Given the description of an element on the screen output the (x, y) to click on. 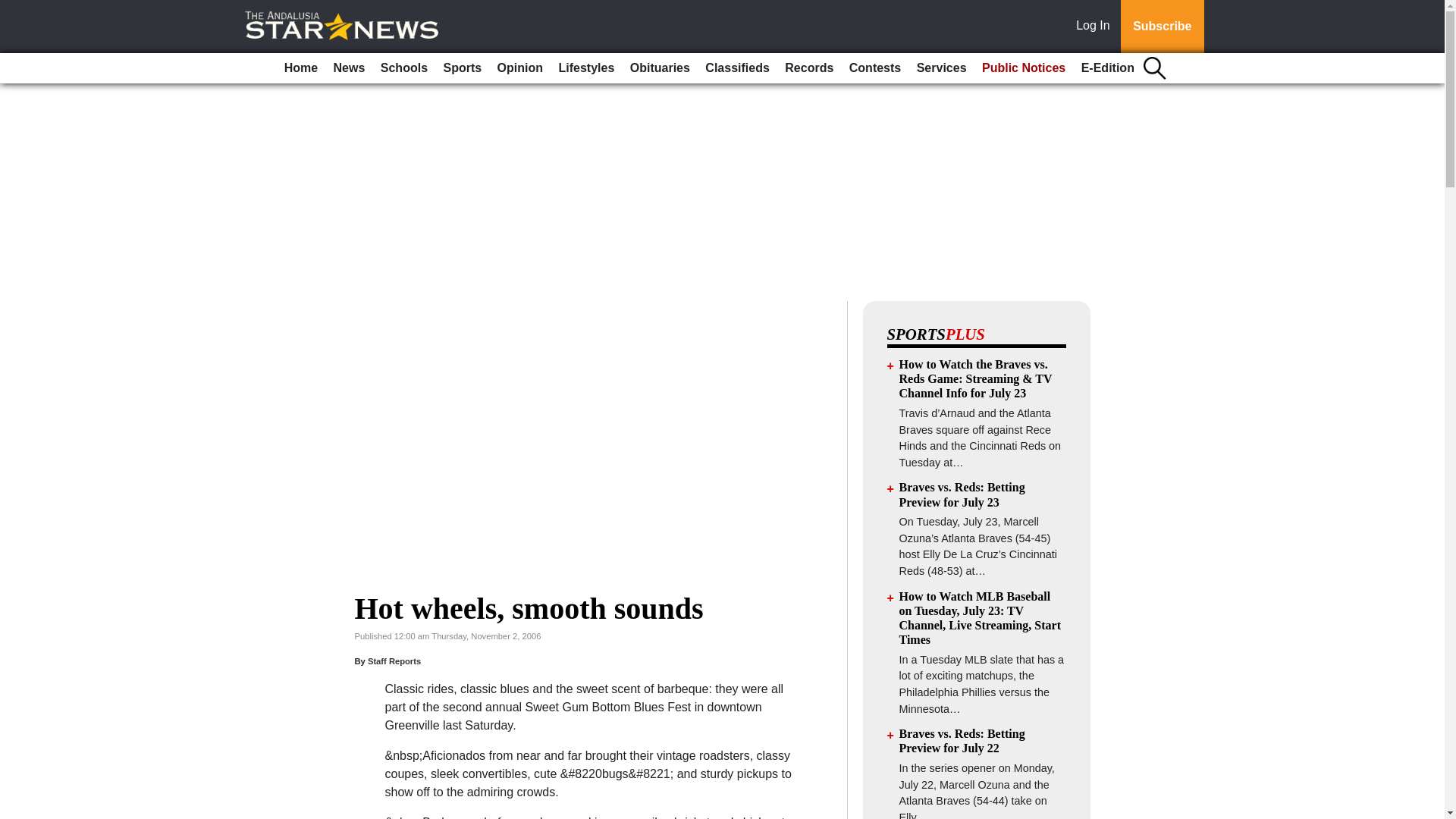
E-Edition (1107, 68)
Go (13, 9)
Braves vs. Reds: Betting Preview for July 22 (962, 740)
Schools (403, 68)
Lifestyles (585, 68)
Opinion (520, 68)
Public Notices (1023, 68)
News (349, 68)
Sports (461, 68)
Contests (875, 68)
Services (941, 68)
Log In (1095, 26)
Braves vs. Reds: Betting Preview for July 23 (962, 493)
Classifieds (736, 68)
